Given the description of an element on the screen output the (x, y) to click on. 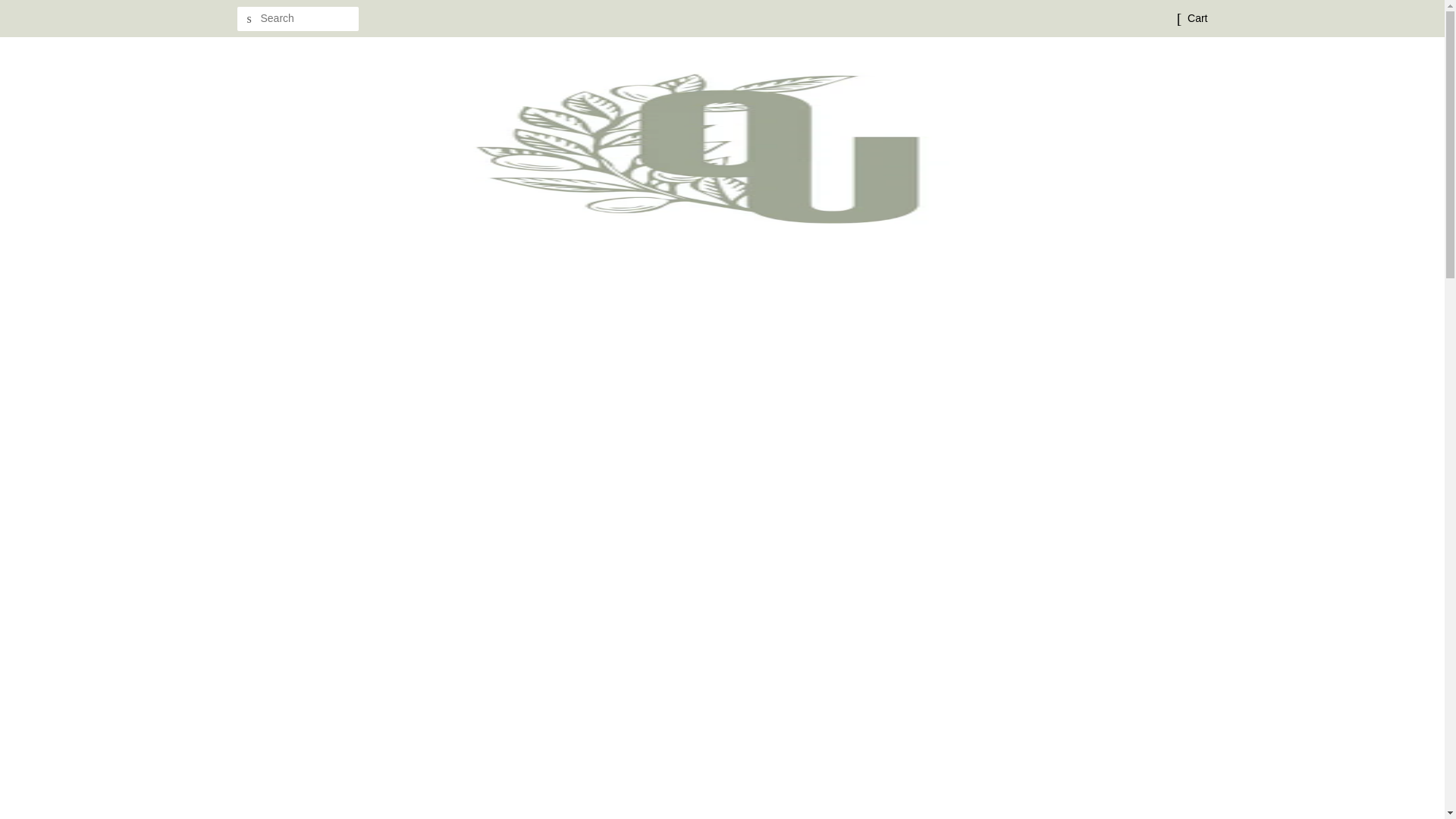
Cart (1197, 18)
Search (247, 18)
